Given the description of an element on the screen output the (x, y) to click on. 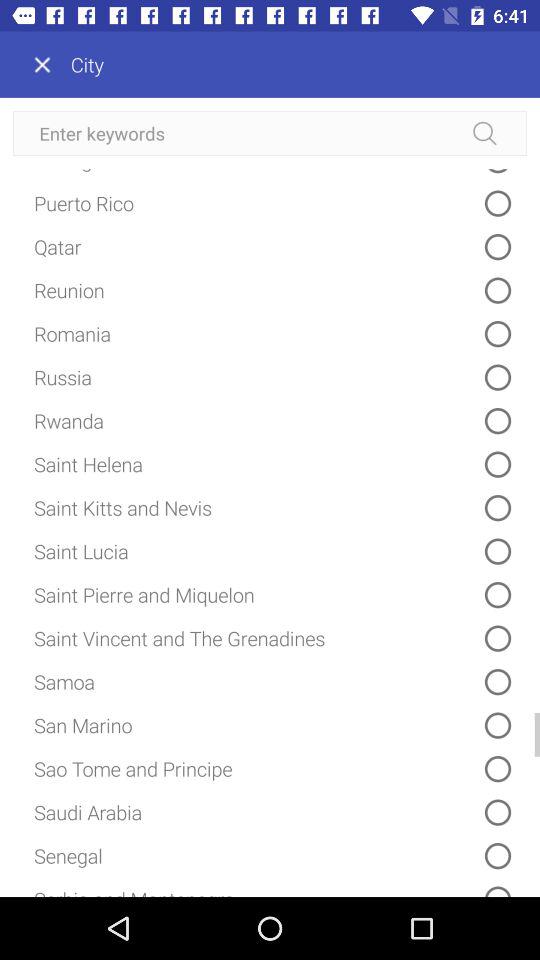
open the item above the portugal item (269, 133)
